Given the description of an element on the screen output the (x, y) to click on. 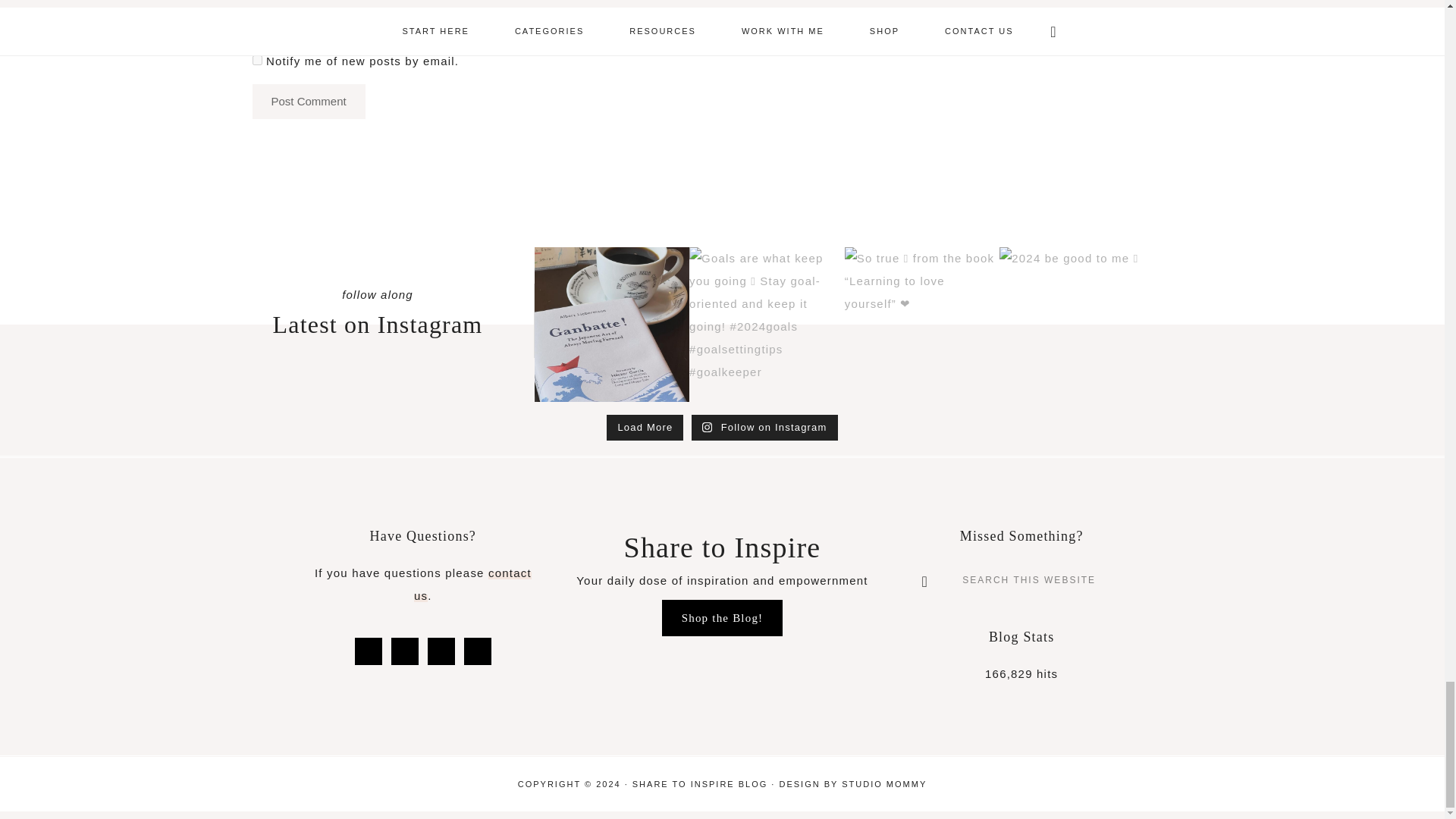
subscribe (256, 60)
Post Comment (308, 101)
subscribe (256, 26)
